Given the description of an element on the screen output the (x, y) to click on. 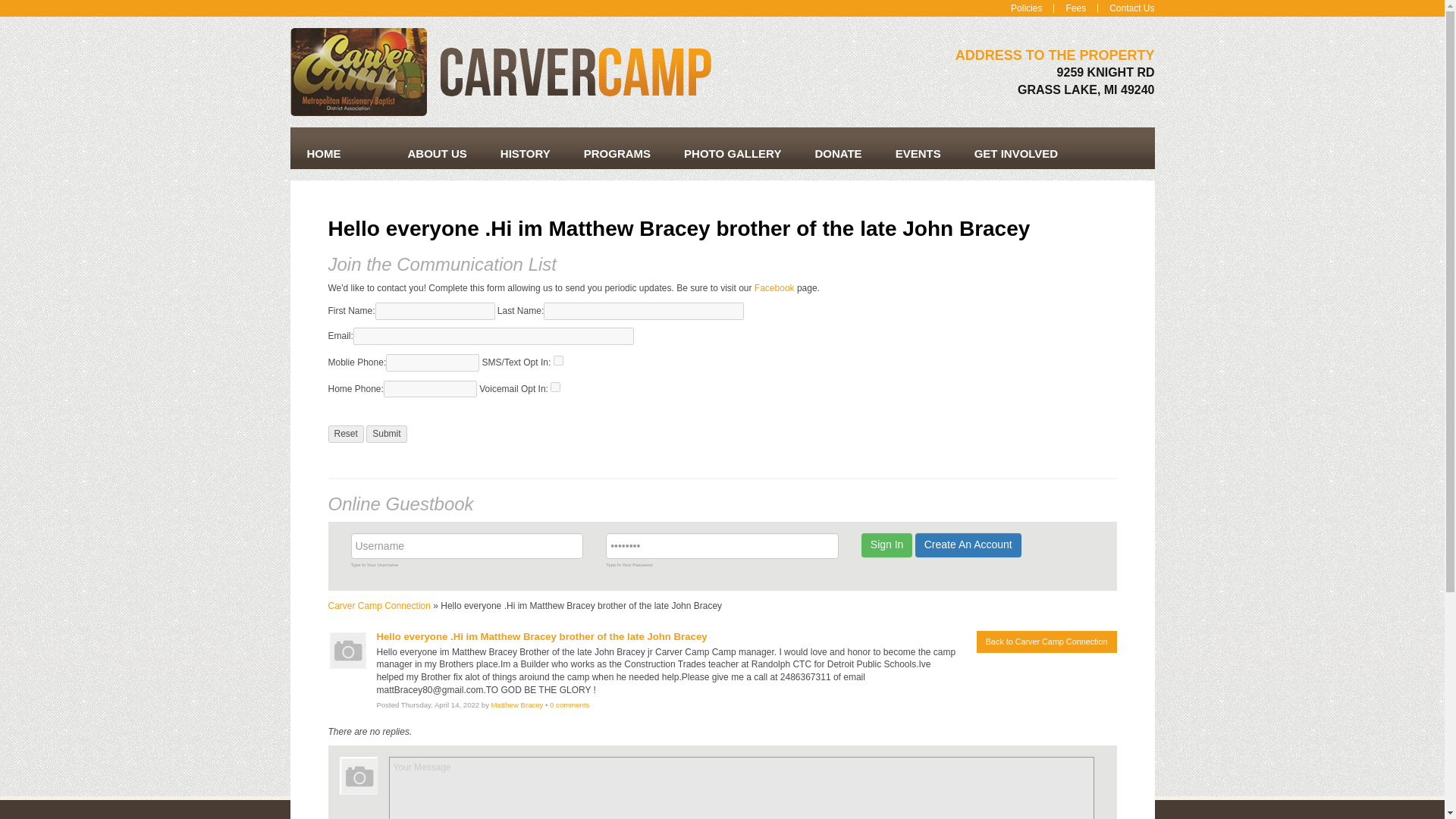
PHOTO GALLERY (731, 153)
Submit (386, 434)
Password (721, 545)
HOME (322, 153)
Sign In (886, 545)
Fees (1075, 8)
Contact Us (1125, 8)
EVENTS (918, 153)
HISTORY (525, 153)
Create An Account (968, 545)
Facebook (774, 287)
Policies (1025, 8)
Sign In (886, 545)
Carver Camp Connection (378, 605)
Submit (386, 434)
